Given the description of an element on the screen output the (x, y) to click on. 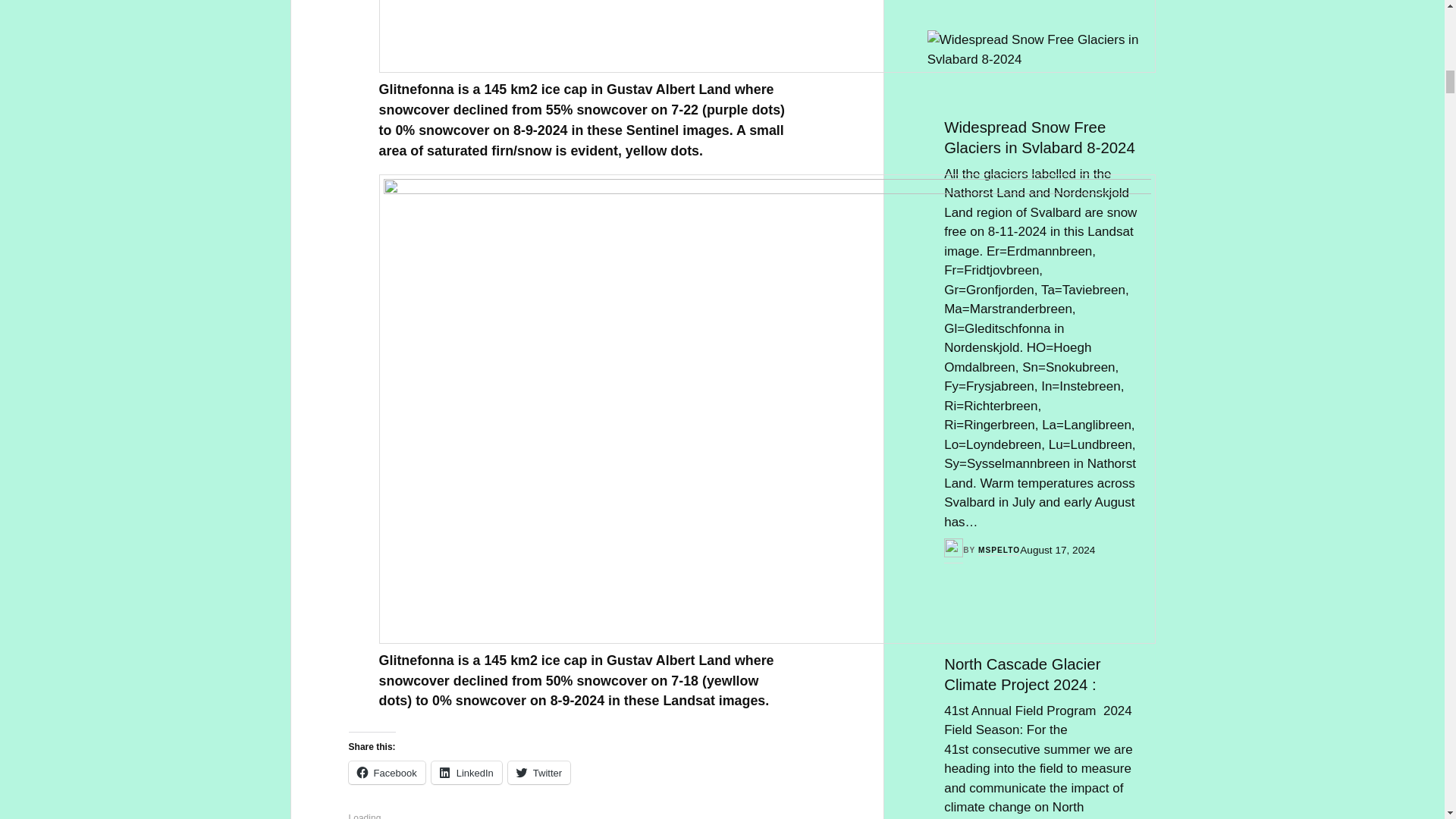
Click to share on LinkedIn (466, 772)
Facebook (387, 772)
LinkedIn (466, 772)
Click to share on Twitter (539, 772)
Click to share on Facebook (387, 772)
Twitter (539, 772)
